Given the description of an element on the screen output the (x, y) to click on. 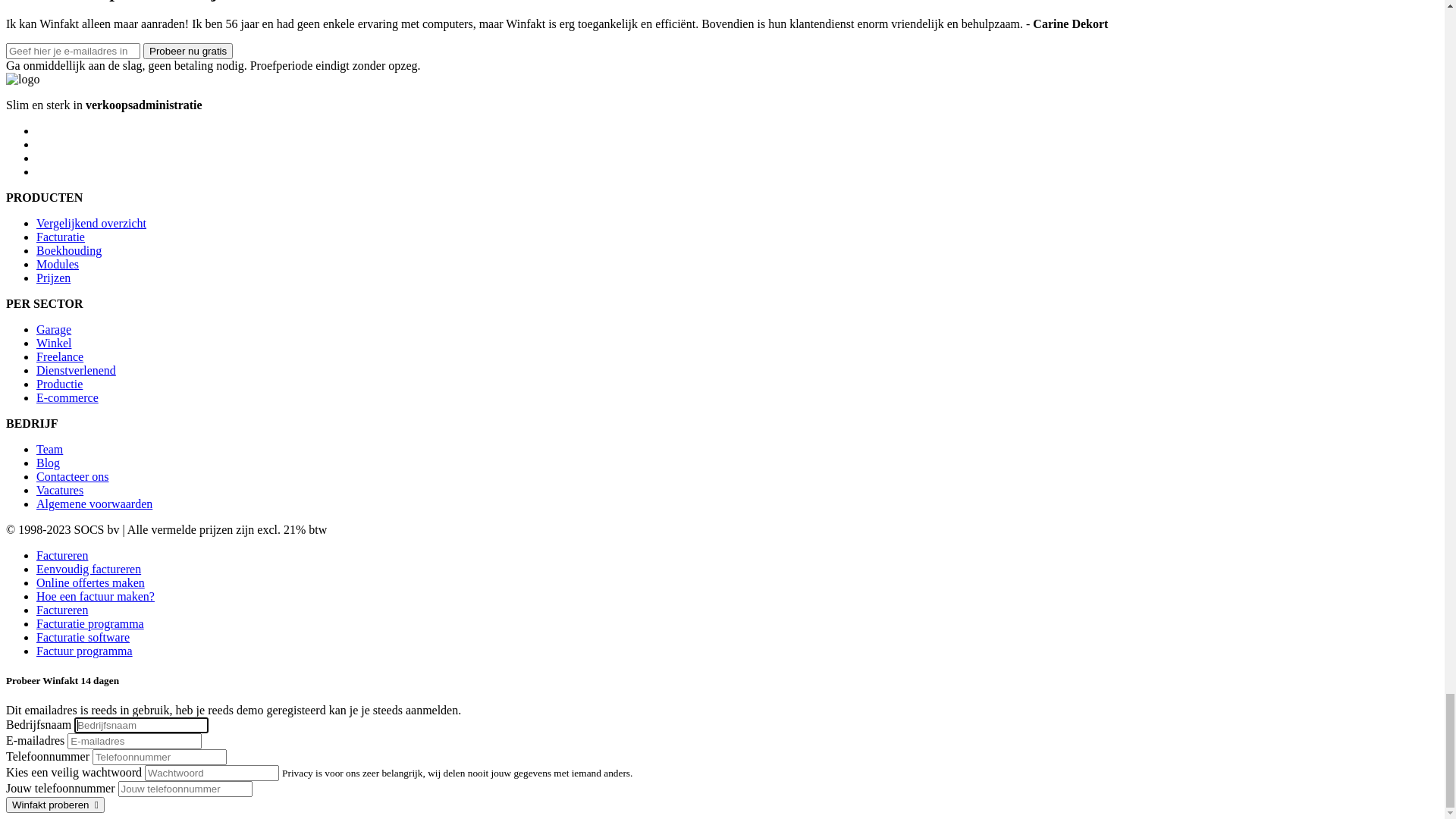
Probeer gratis Element type: text (69, 354)
Aanmelden Element type: text (64, 341)
Plan een demo Element type: text (133, 445)
Voor wie? Element type: text (60, 288)
Home Element type: text (50, 124)
Prijzen Element type: text (53, 151)
Team Element type: text (49, 178)
Help Center Element type: text (65, 59)
Winfakt logo Element type: hover (43, 99)
Vacatures 3 Element type: text (64, 45)
Ontdek Winfakt Element type: text (75, 137)
Over ons Element type: text (58, 165)
Probeer nu gratis Element type: text (50, 447)
Blog Element type: text (77, 178)
Ontdek Winfakt Element type: text (75, 274)
Contacteer ons Element type: text (212, 178)
Contact Element type: text (55, 315)
Prijzen Element type: text (53, 301)
MENU Element type: text (26, 234)
Probeer nu gratis Element type: text (80, 206)
Wat is er nieuw? Element type: text (132, 178)
Home Element type: text (50, 260)
Aanmelden Element type: text (64, 72)
Winfakt home Element type: hover (43, 98)
Contacteer ons Element type: text (72, 31)
